Given the description of an element on the screen output the (x, y) to click on. 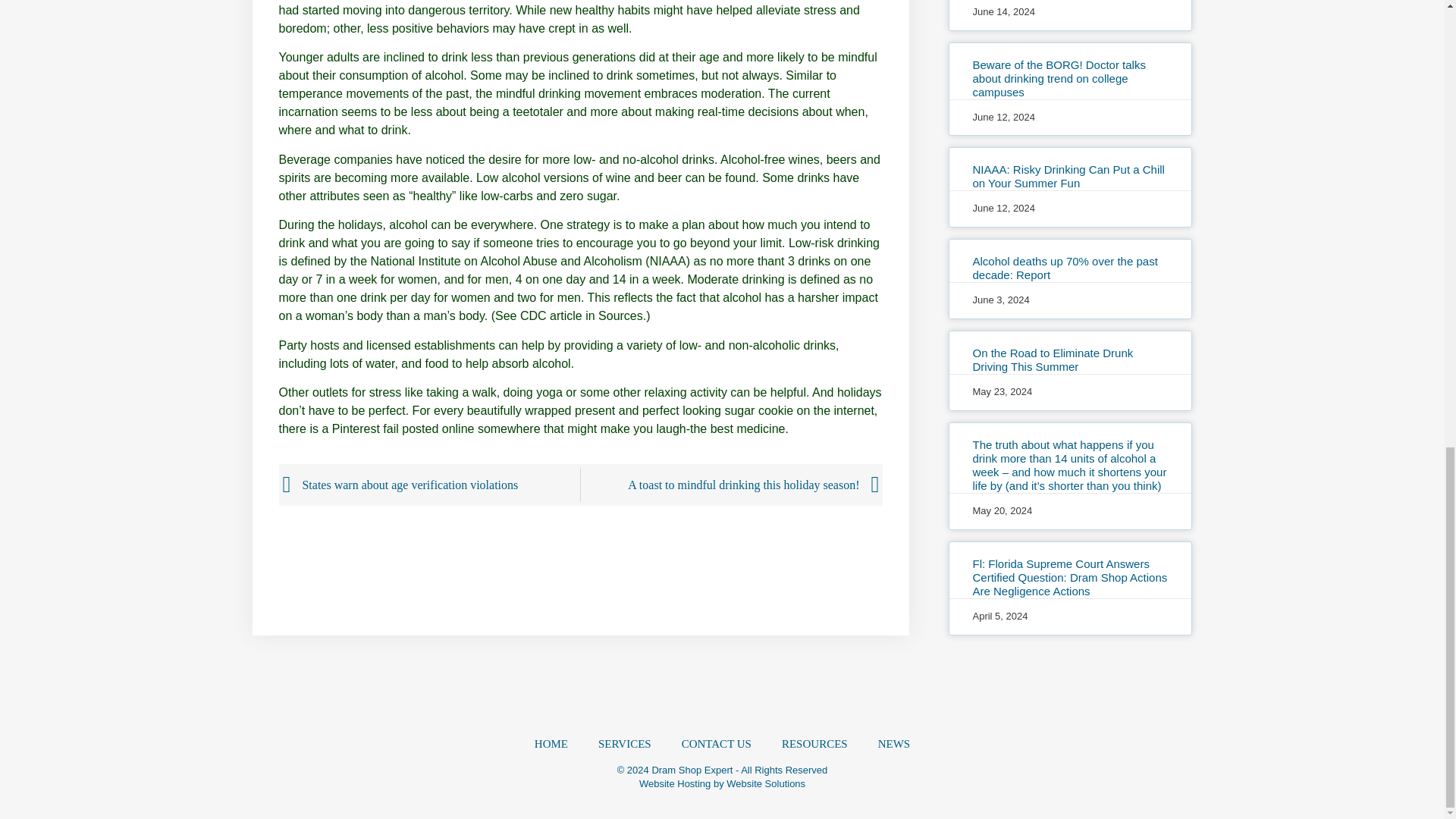
On the Road to Eliminate Drunk Driving This Summer (1052, 359)
HOME (551, 743)
NEWS (894, 743)
CONTACT US (716, 743)
States warn about age verification violations (430, 484)
SERVICES (624, 743)
NIAAA: Risky Drinking Can Put a Chill on Your Summer Fun (1067, 175)
A toast to mindful drinking this holiday season! (729, 484)
RESOURCES (815, 743)
